Given the description of an element on the screen output the (x, y) to click on. 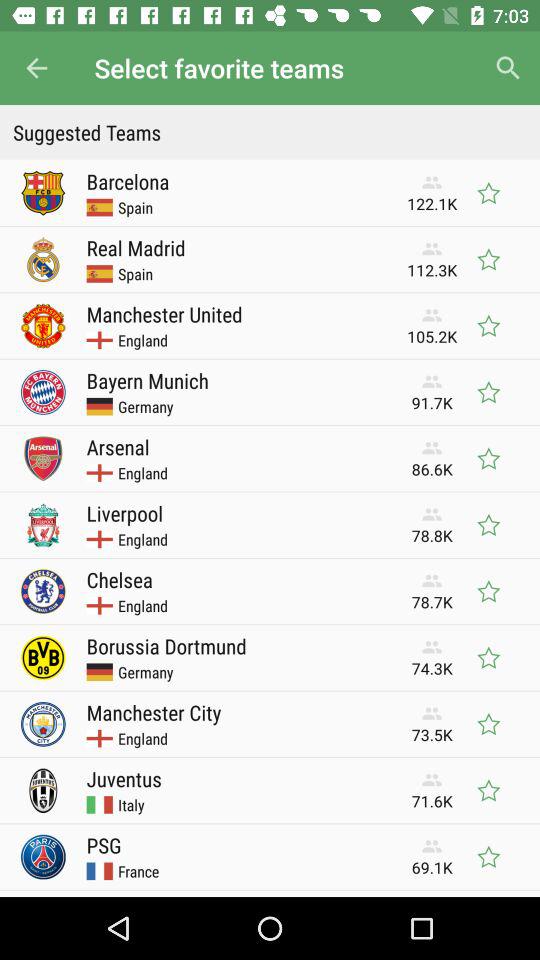
click the item next to the 112.3k icon (135, 247)
